Given the description of an element on the screen output the (x, y) to click on. 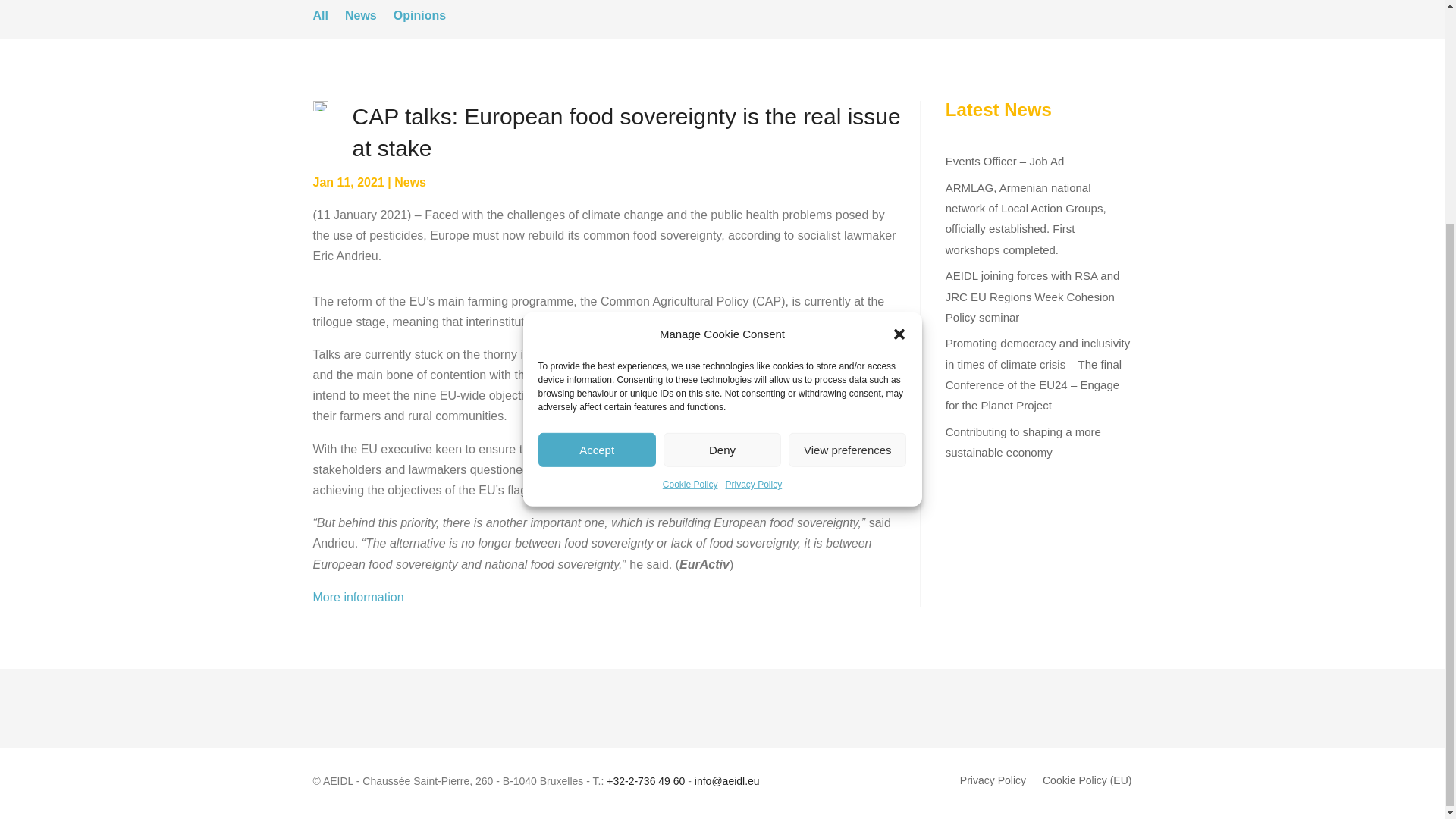
pac4 (320, 105)
Cookie Policy (689, 186)
Deny (721, 151)
Privacy Policy (753, 186)
View preferences (847, 151)
Accept (597, 151)
